Given the description of an element on the screen output the (x, y) to click on. 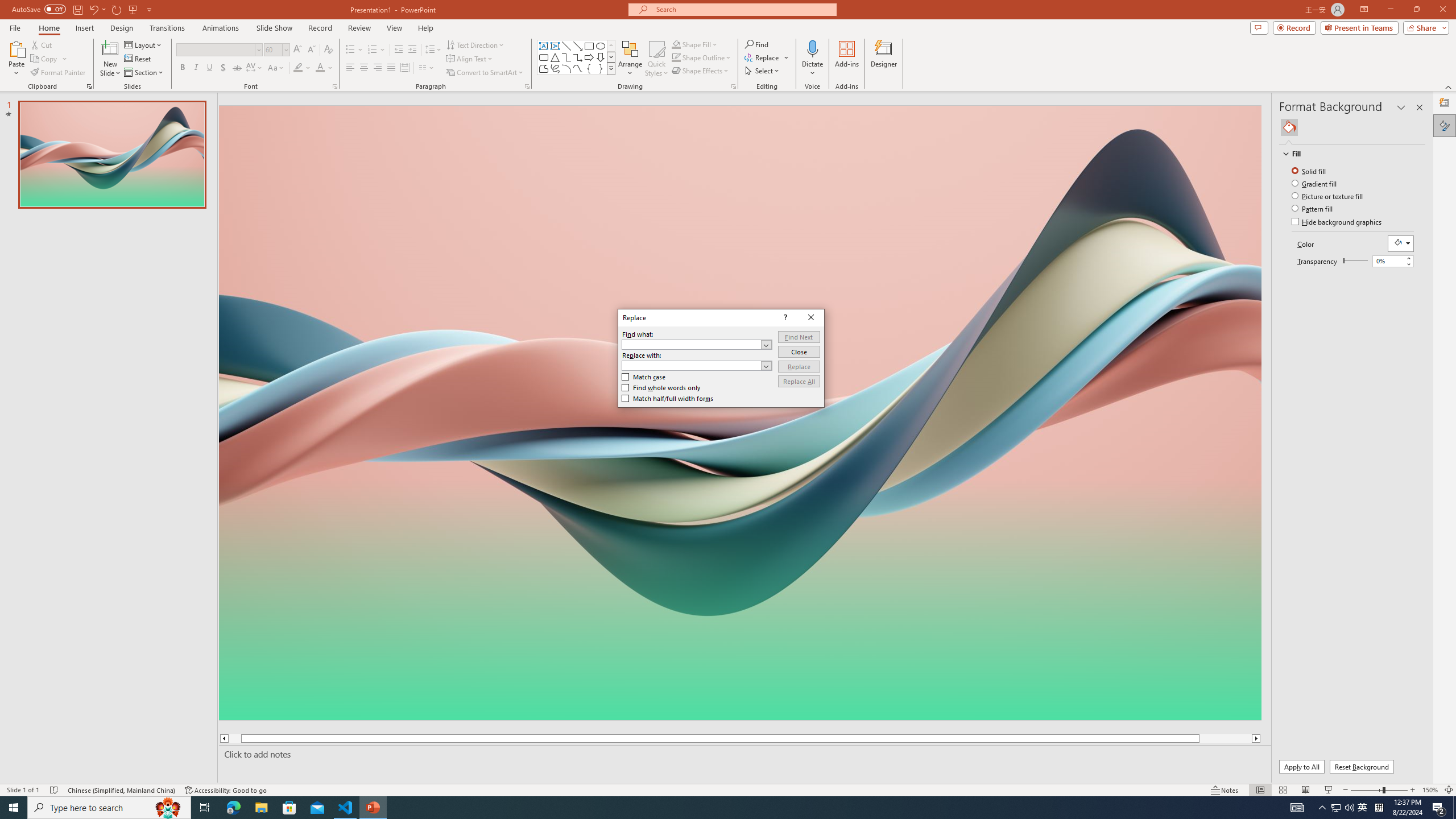
Class: NetUIScrollBar (1420, 451)
Match half/full width forms (667, 397)
Fill Color RGB(255, 255, 255) (1400, 243)
Find what (691, 343)
